Given the description of an element on the screen output the (x, y) to click on. 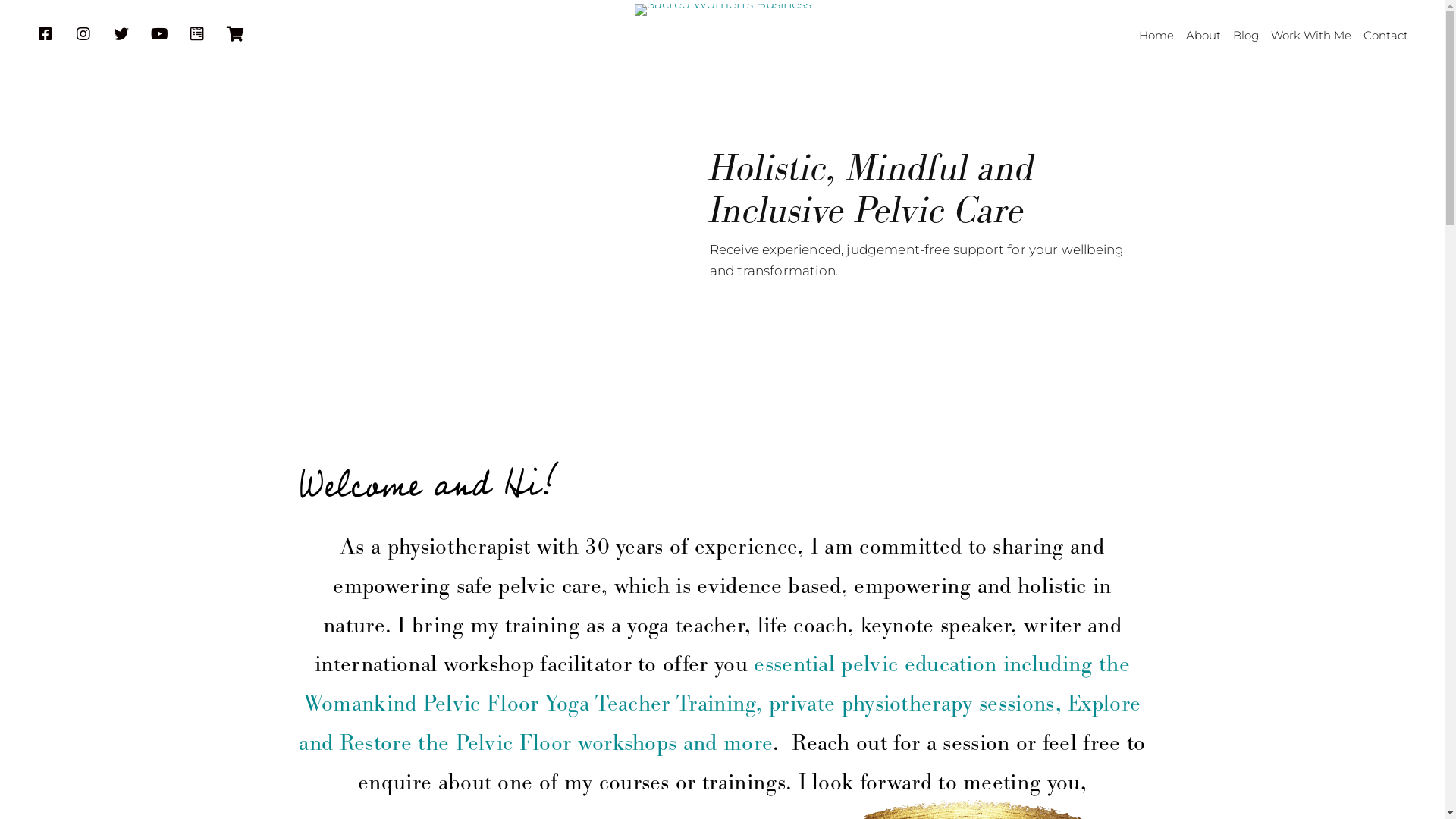
Home Element type: text (1155, 35)
Contact Element type: text (1385, 35)
About Element type: text (1202, 35)
Work With Me Element type: text (1310, 35)
Blog Element type: text (1245, 35)
